Given the description of an element on the screen output the (x, y) to click on. 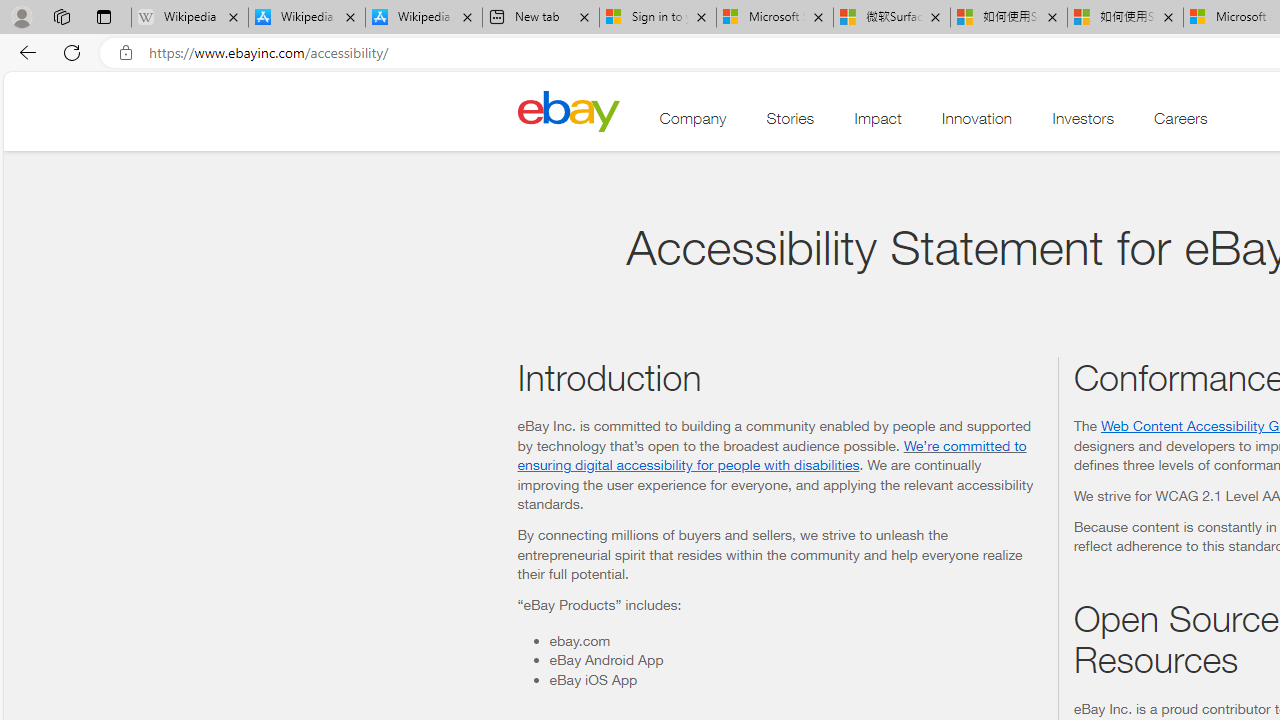
Investors (1083, 123)
